Given the description of an element on the screen output the (x, y) to click on. 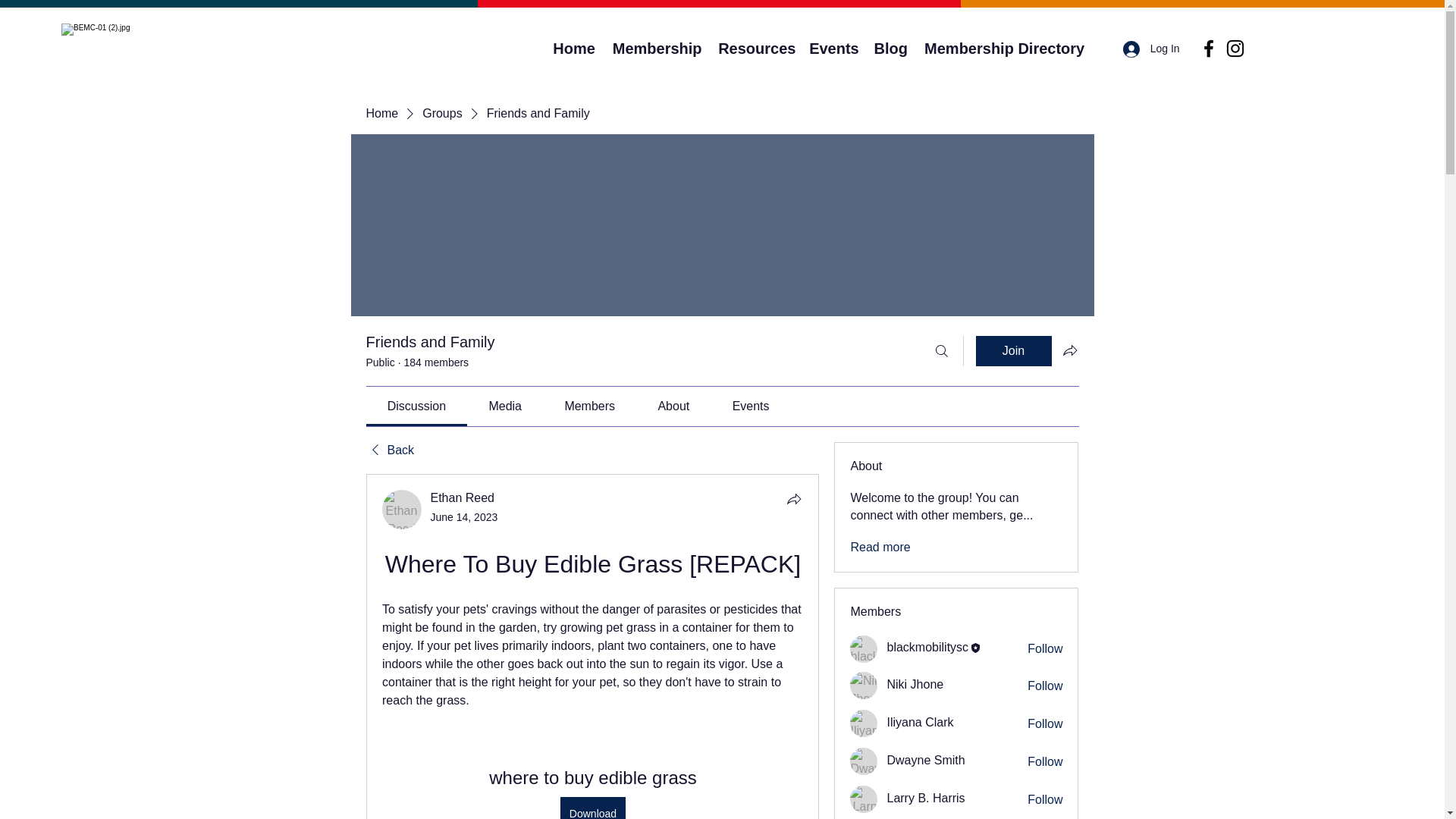
Join (1013, 350)
Follow (1044, 648)
Iliyana Clark (863, 723)
Niki Jhone (863, 685)
Read more (880, 547)
Membership Directory (1004, 48)
Resources (756, 48)
blackmobilitysc (927, 646)
Home (574, 48)
Download (591, 807)
Follow (1044, 723)
Blog (890, 48)
Events (834, 48)
Dwayne Smith (863, 760)
Follow (1044, 761)
